Given the description of an element on the screen output the (x, y) to click on. 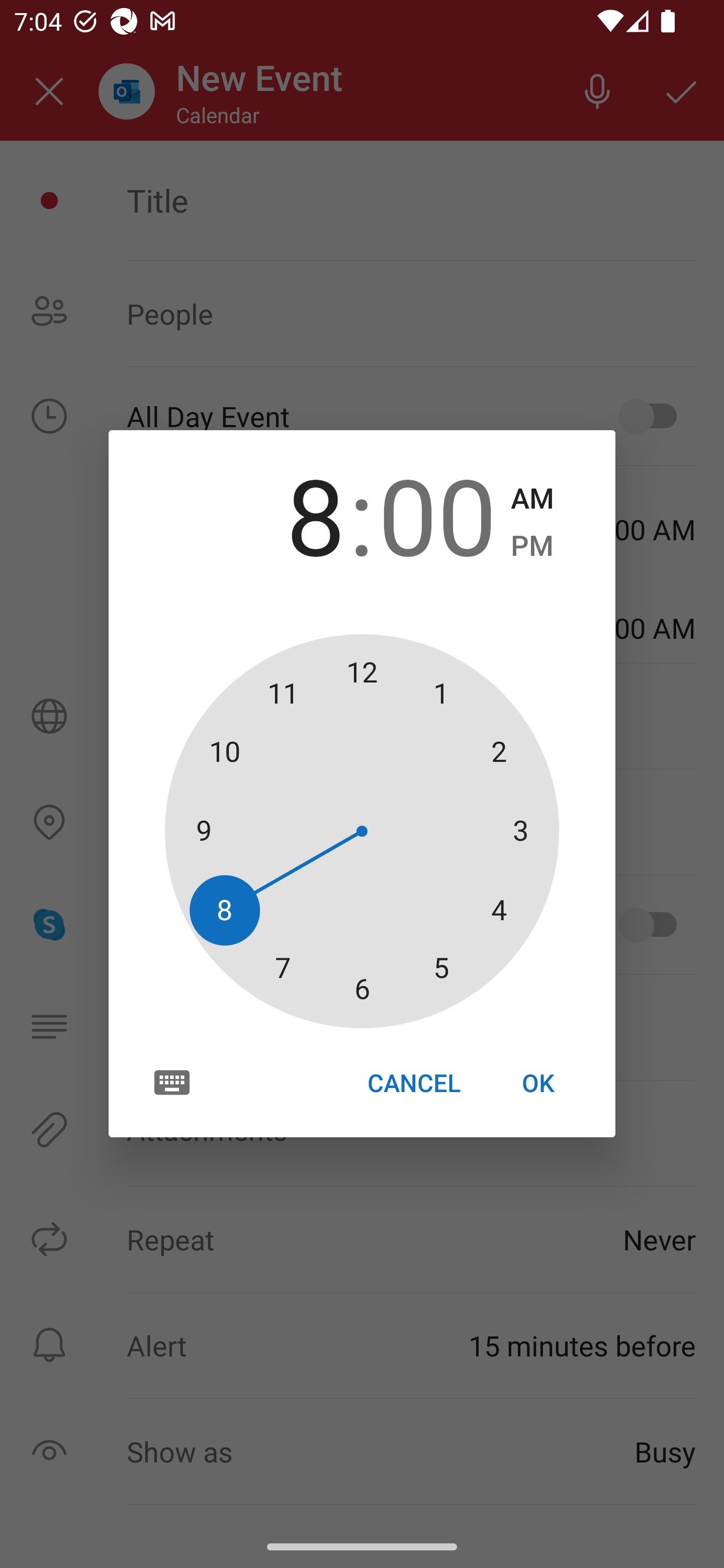
8 (285, 513)
00 (436, 513)
AM (532, 498)
PM (532, 546)
CANCEL (413, 1082)
OK (537, 1082)
Switch to text input mode for the time input. (171, 1081)
